Given the description of an element on the screen output the (x, y) to click on. 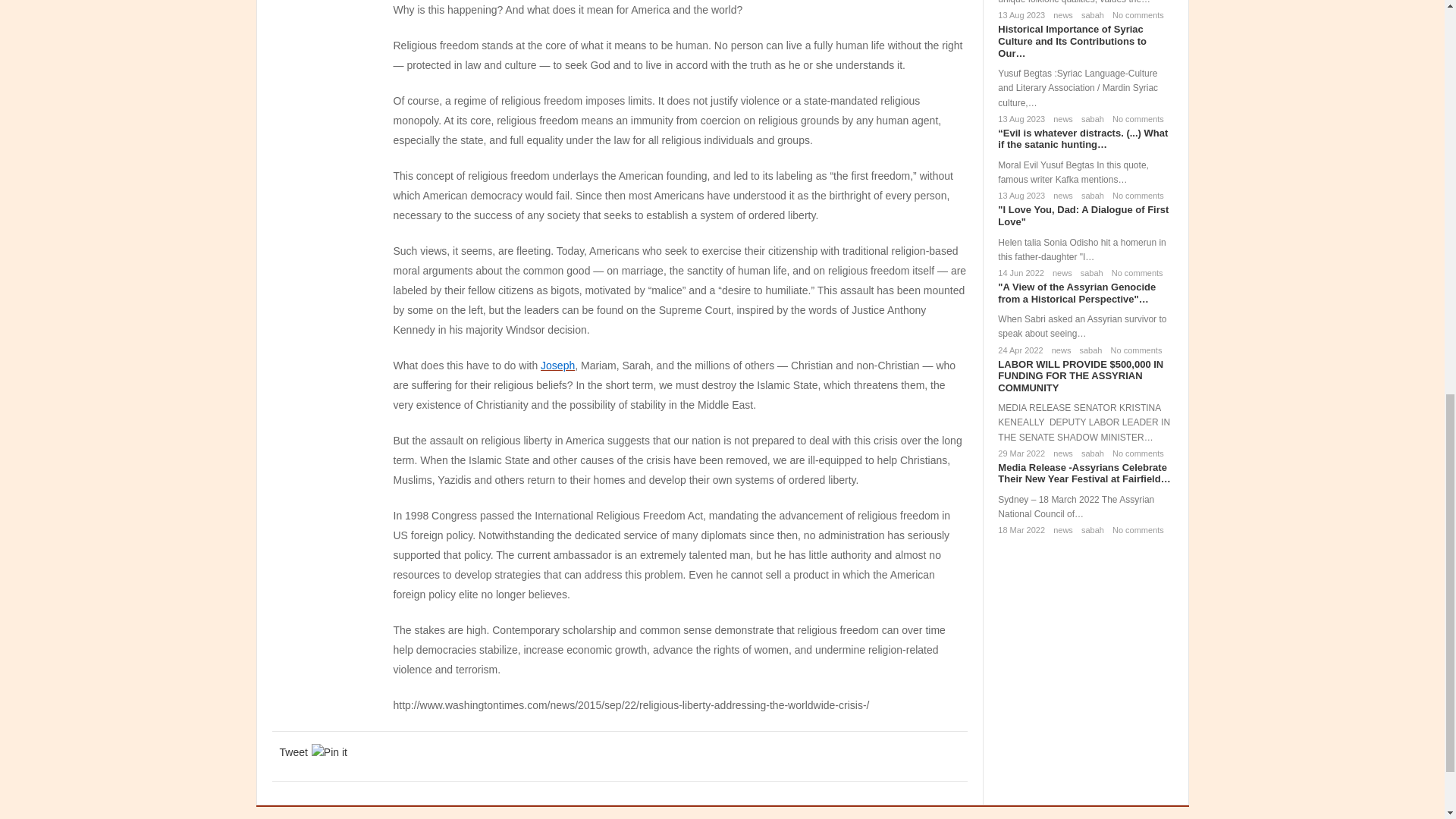
Tweet (293, 751)
I Love You, Dad: A Dialogue of First Love (1083, 215)
Joseph (557, 365)
Pin it (329, 751)
